Given the description of an element on the screen output the (x, y) to click on. 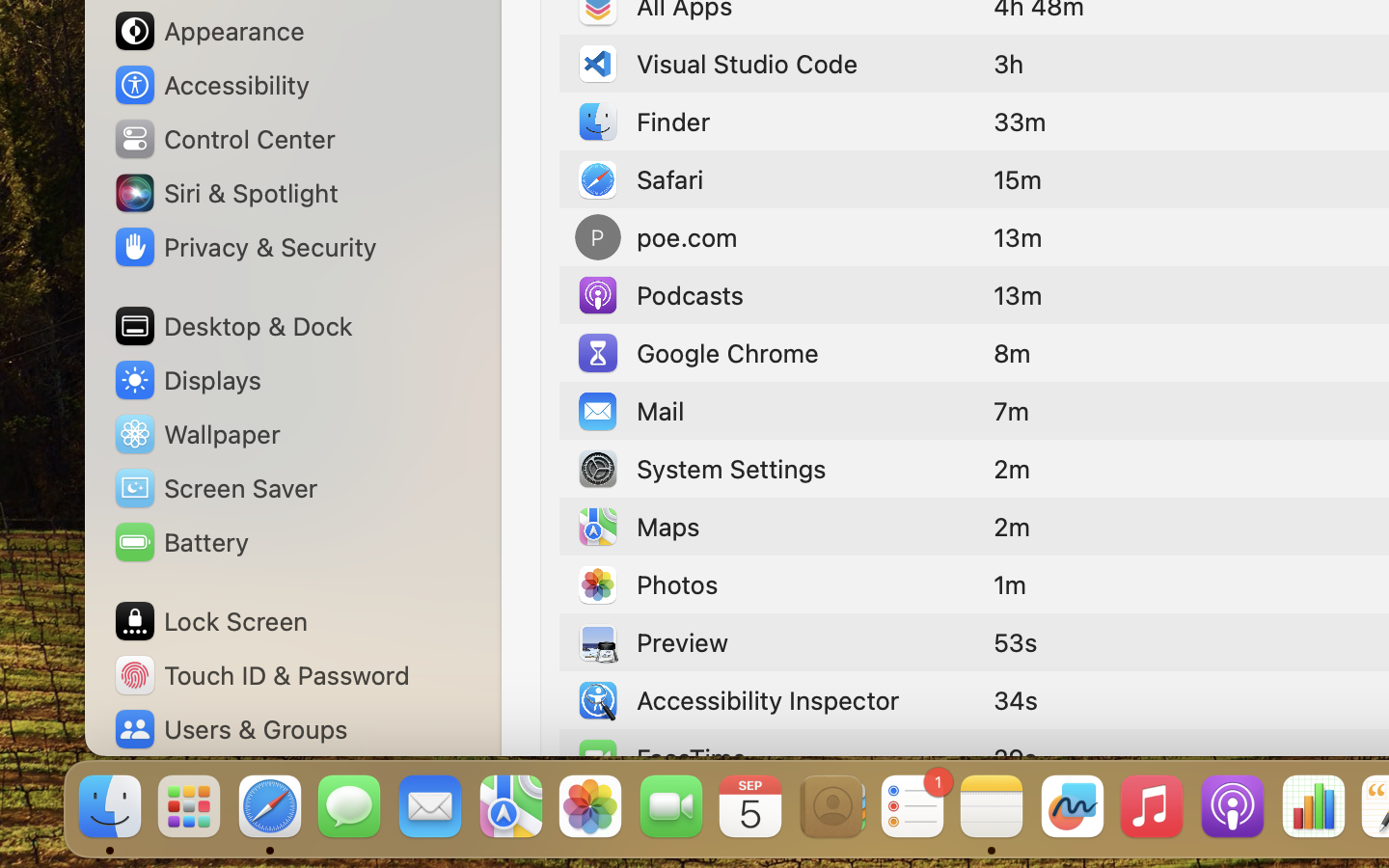
Accessibility Element type: AXStaticText (210, 84)
53s Element type: AXStaticText (1015, 641)
Wallpaper Element type: AXStaticText (195, 433)
Photos Element type: AXStaticText (645, 584)
Desktop & Dock Element type: AXStaticText (232, 325)
